Given the description of an element on the screen output the (x, y) to click on. 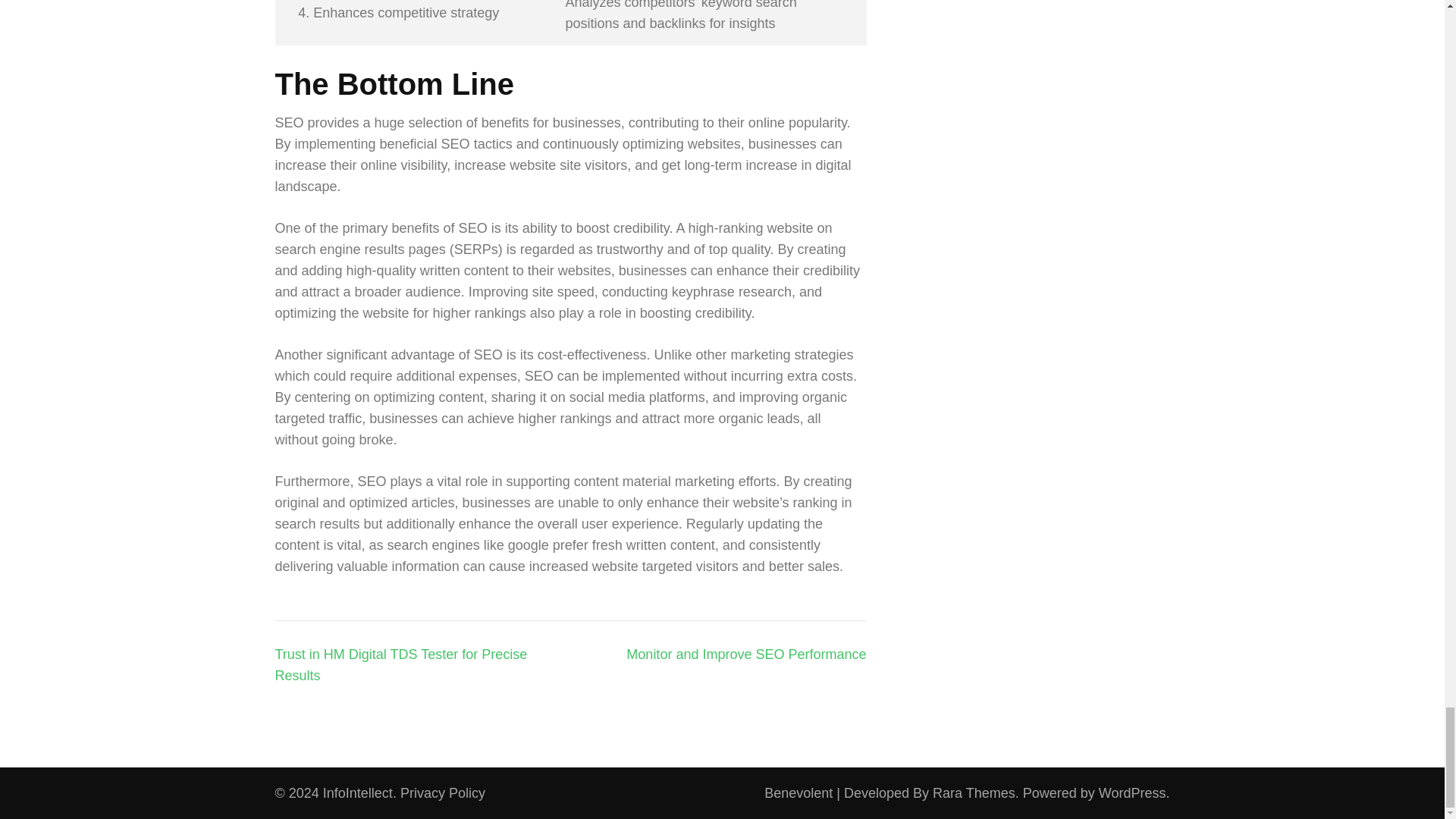
Trust in HM Digital TDS Tester for Precise Results (401, 665)
Monitor and Improve SEO Performance (746, 654)
